Given the description of an element on the screen output the (x, y) to click on. 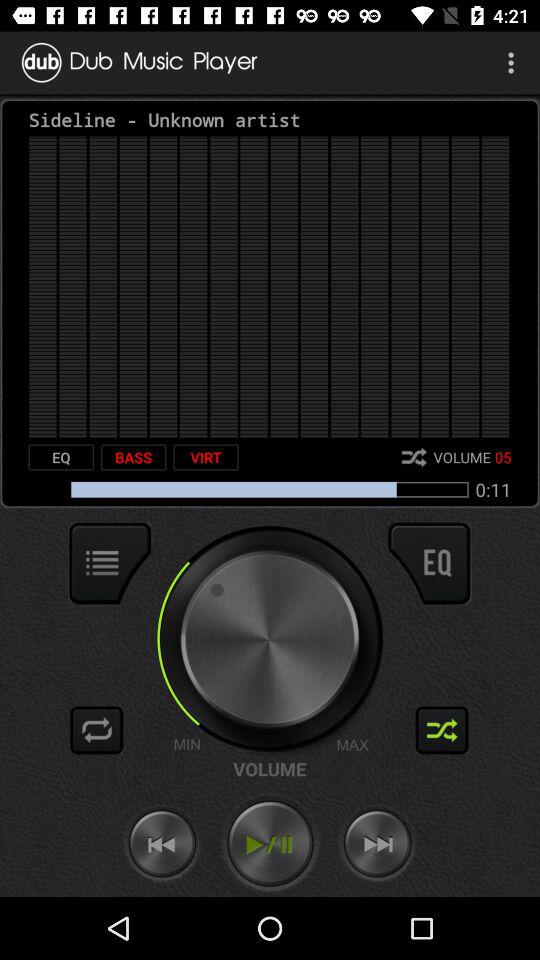
this button song backward (162, 844)
